Given the description of an element on the screen output the (x, y) to click on. 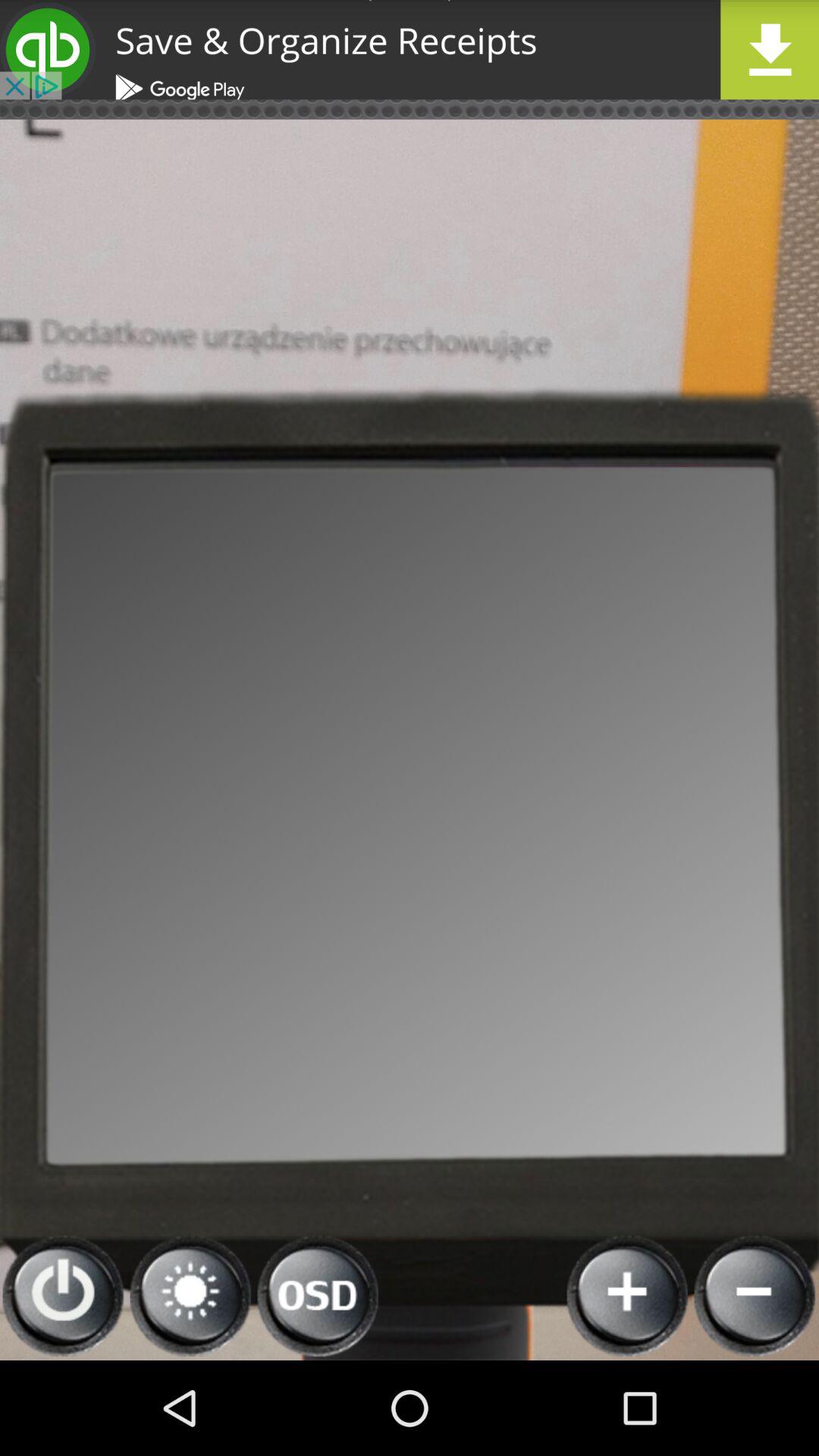
zoom out (755, 1296)
